Given the description of an element on the screen output the (x, y) to click on. 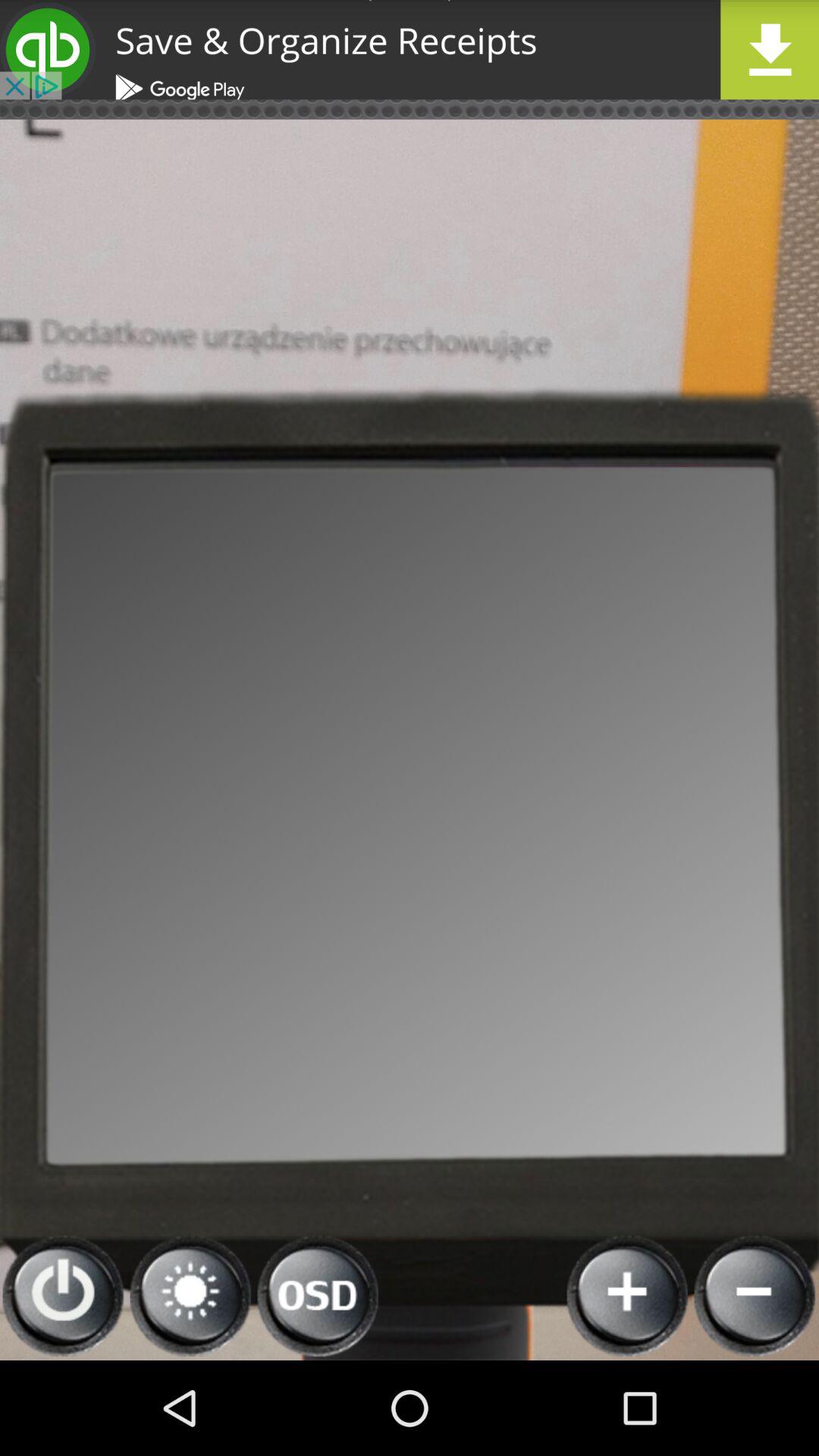
zoom out (755, 1296)
